Given the description of an element on the screen output the (x, y) to click on. 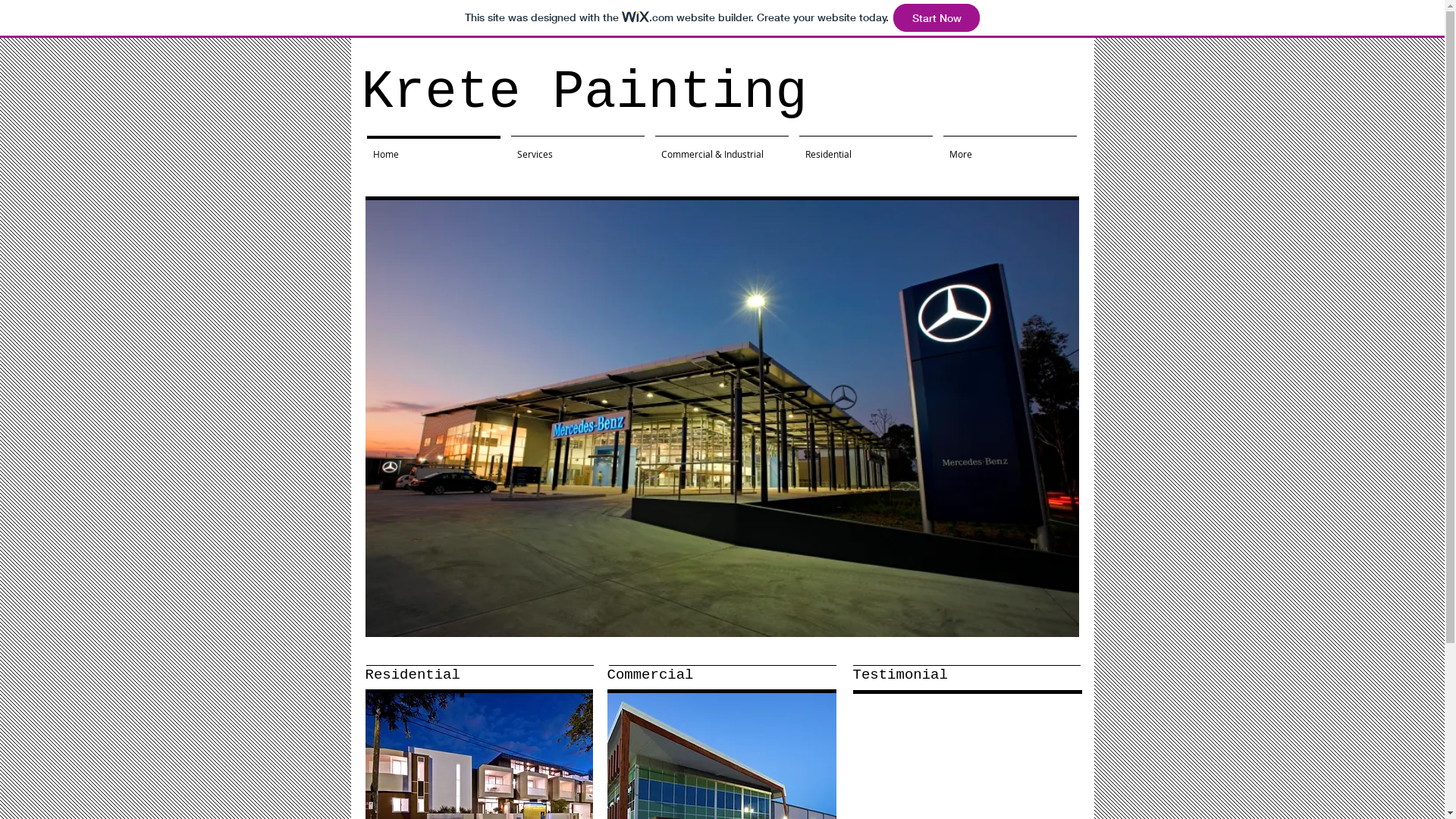
Commercial & Industrial Element type: text (721, 146)
Home Element type: text (432, 146)
Residential Element type: text (865, 146)
Services Element type: text (577, 146)
